Given the description of an element on the screen output the (x, y) to click on. 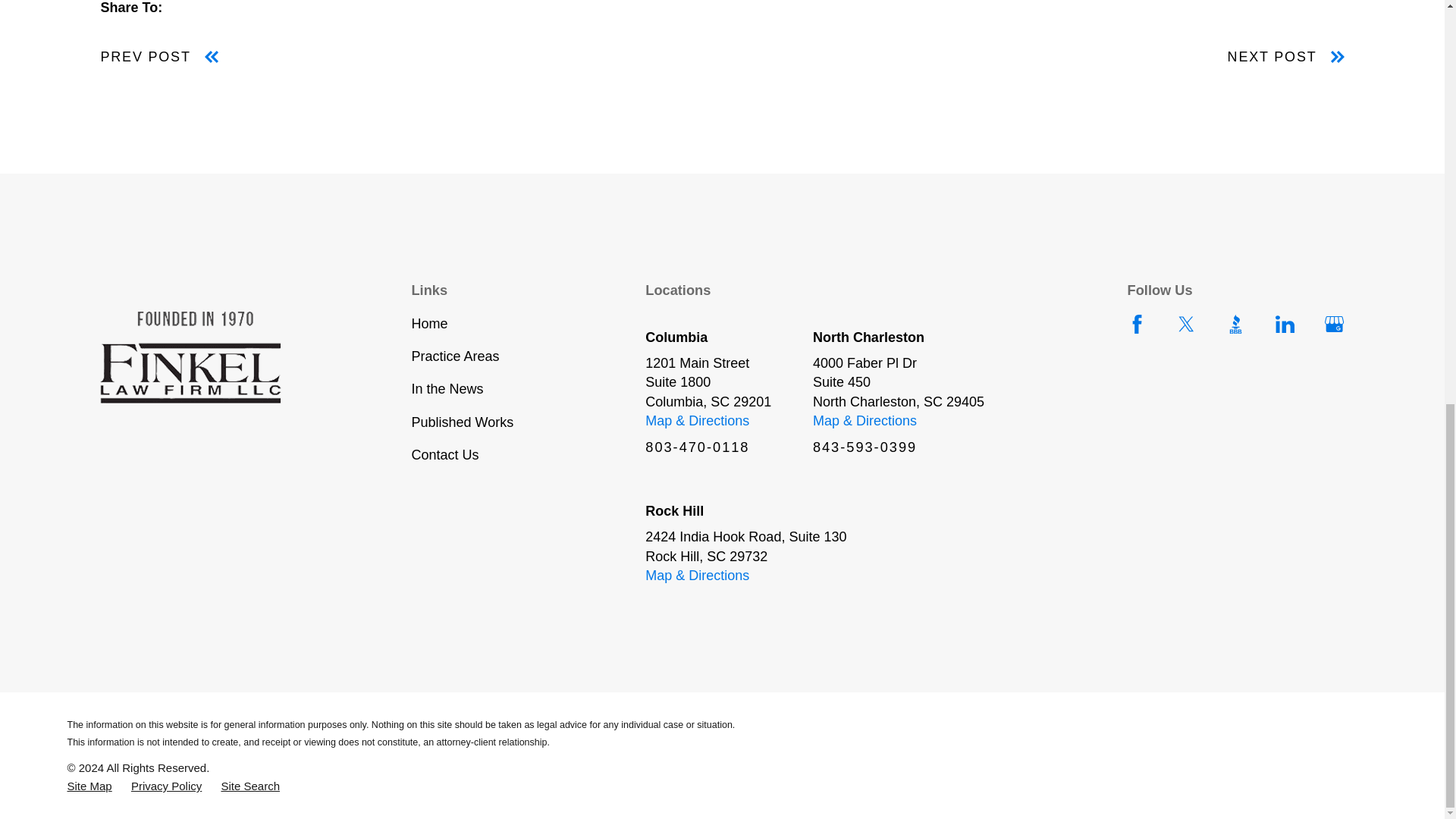
BBB.org (1234, 323)
LinkedIn (1284, 323)
Home (209, 357)
Finkel Law Firm LLC (190, 357)
Facebook (1136, 323)
Twitter (1185, 323)
